Given the description of an element on the screen output the (x, y) to click on. 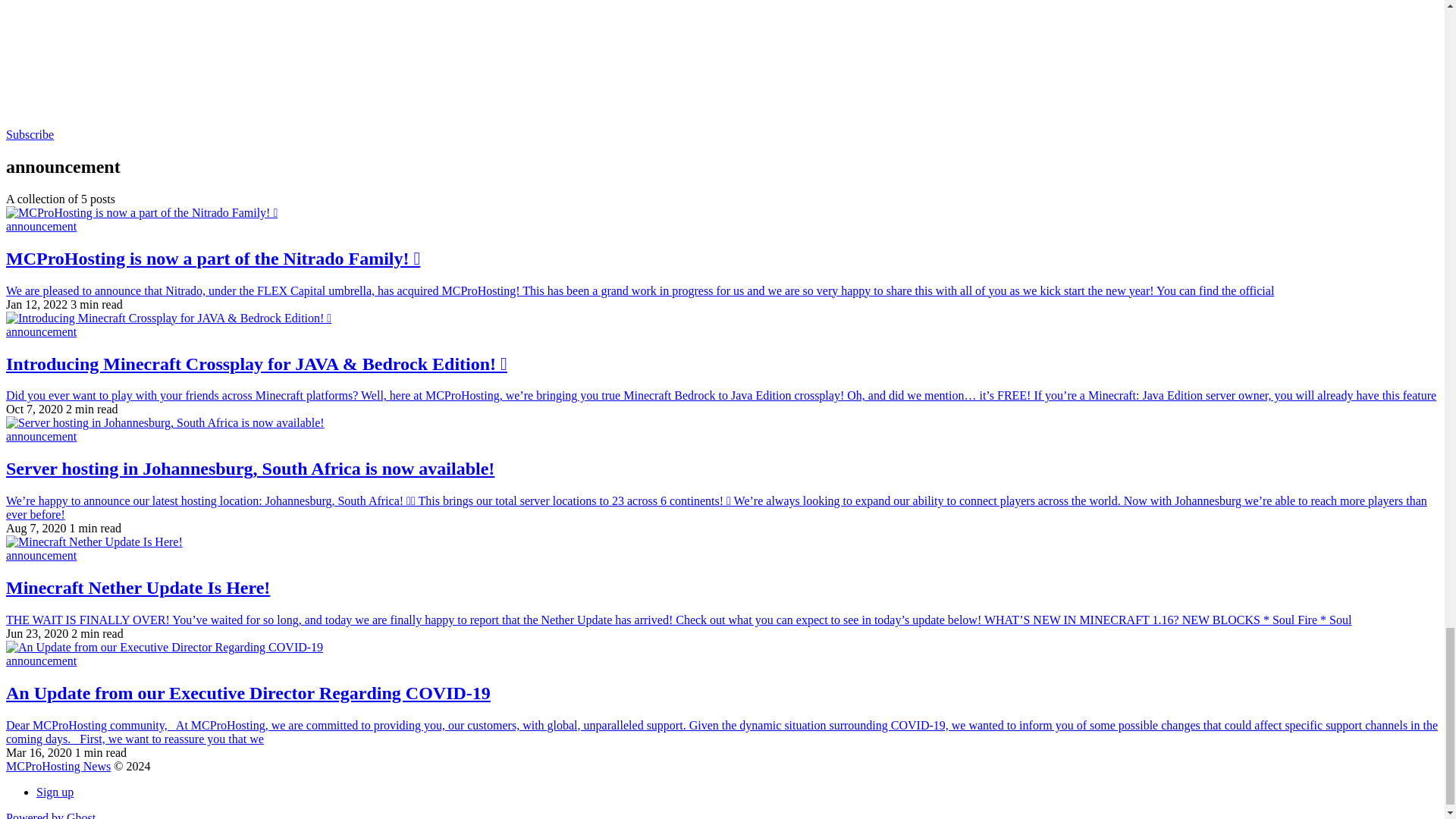
Subscribe (29, 133)
Sign up (55, 791)
MCProHosting News (57, 766)
